Given the description of an element on the screen output the (x, y) to click on. 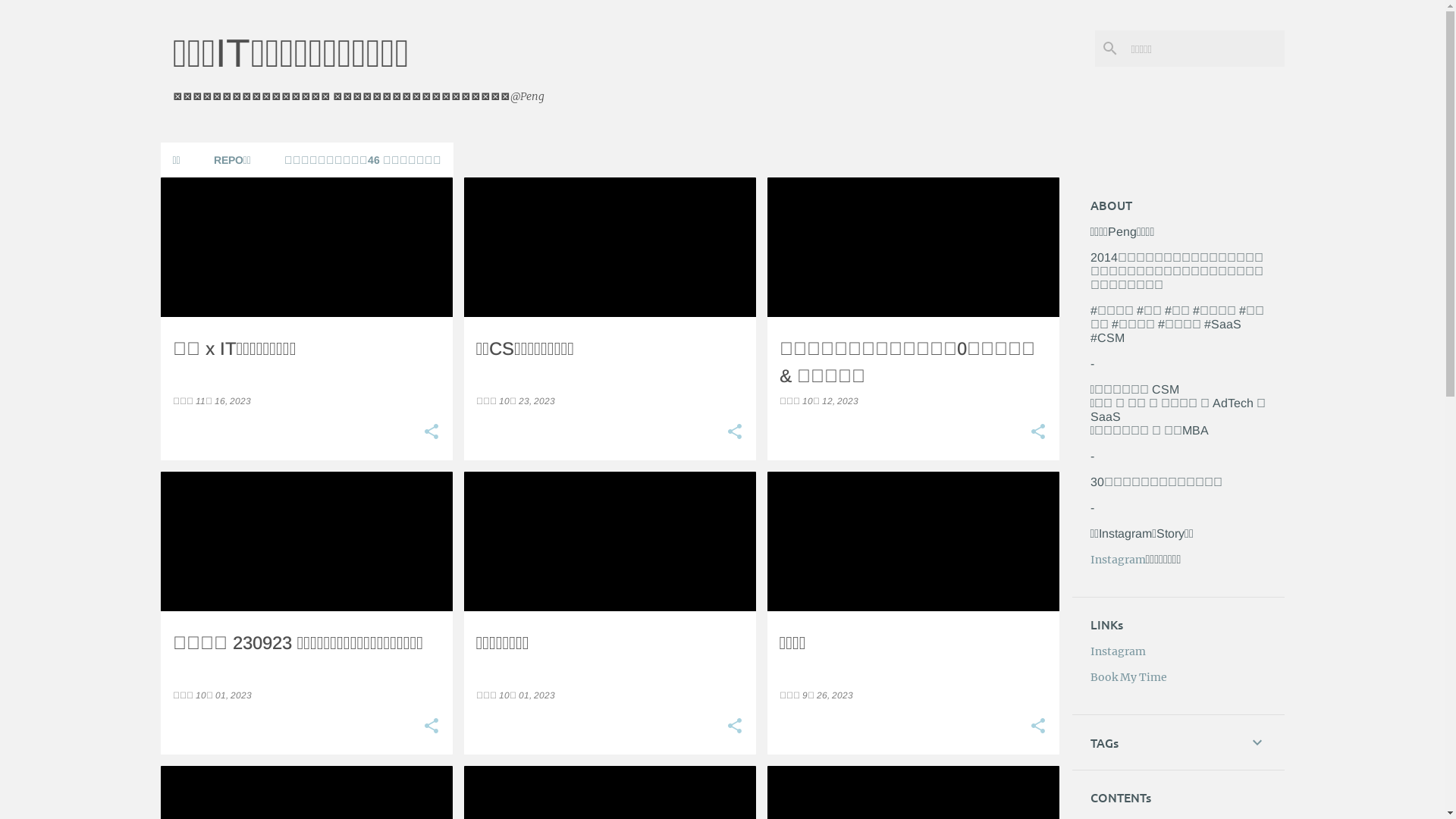
Instagram Element type: text (1117, 559)
Book My Time Element type: text (1128, 677)
Instagram Element type: text (1117, 651)
